Given the description of an element on the screen output the (x, y) to click on. 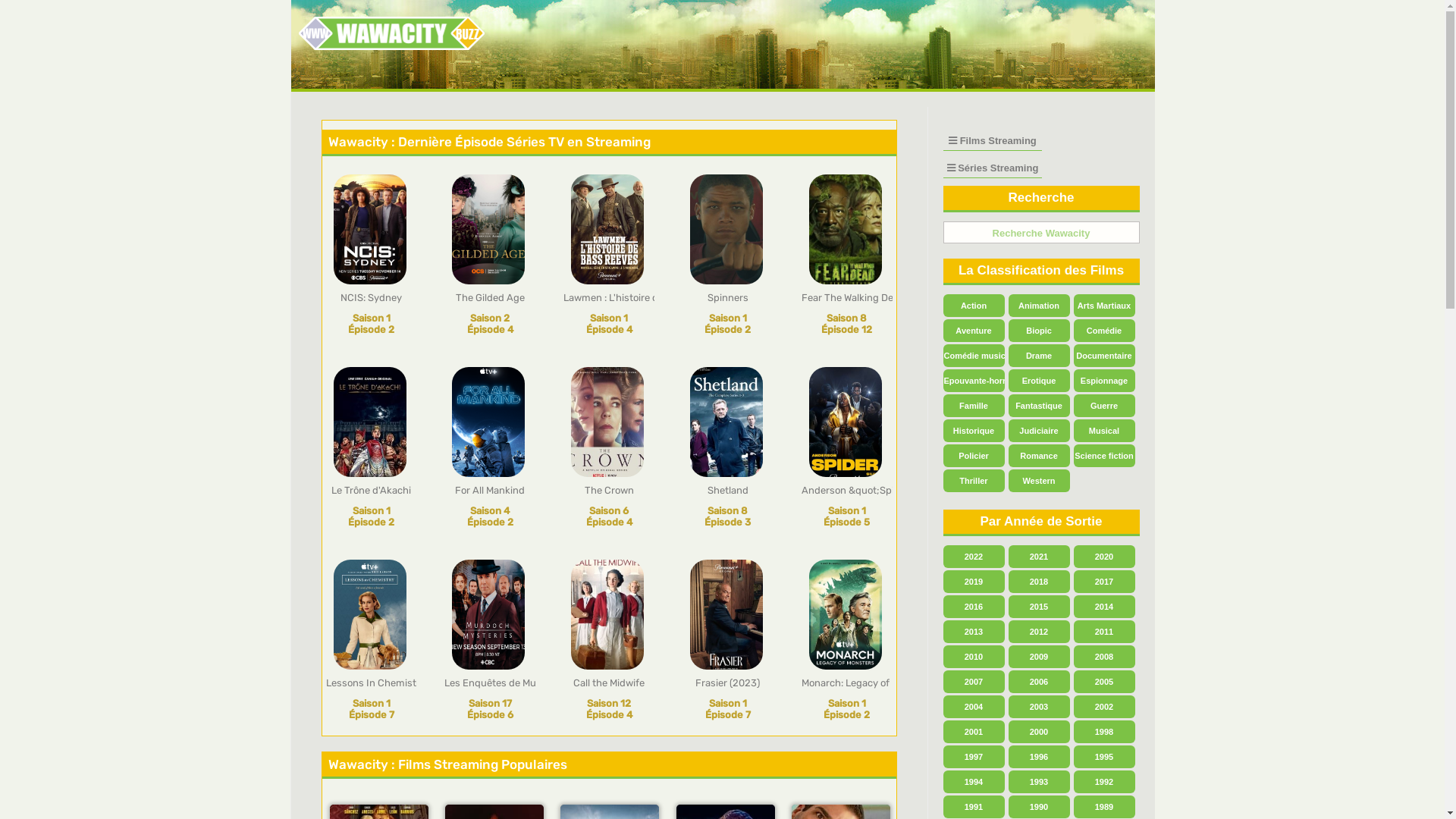
2014 Element type: text (1104, 606)
Historique Element type: text (973, 430)
Thriller Element type: text (973, 480)
1993 Element type: text (1039, 781)
2013 Element type: text (973, 631)
Espionnage Element type: text (1104, 380)
2011 Element type: text (1104, 631)
1998 Element type: text (1104, 731)
2016 Element type: text (973, 606)
1989 Element type: text (1104, 806)
1990 Element type: text (1039, 806)
2004 Element type: text (973, 706)
Documentaire Element type: text (1104, 355)
Famille Element type: text (973, 405)
2009 Element type: text (1039, 656)
1997 Element type: text (973, 756)
Science fiction Element type: text (1104, 455)
Romance Element type: text (1039, 455)
2002 Element type: text (1104, 706)
2022 Element type: text (973, 556)
Western Element type: text (1039, 480)
1992 Element type: text (1104, 781)
2018 Element type: text (1039, 581)
2010 Element type: text (973, 656)
2019 Element type: text (973, 581)
2003 Element type: text (1039, 706)
2008 Element type: text (1104, 656)
Policier Element type: text (973, 455)
Animation Element type: text (1039, 305)
2012 Element type: text (1039, 631)
1996 Element type: text (1039, 756)
2000 Element type: text (1039, 731)
1994 Element type: text (973, 781)
Arts Martiaux Element type: text (1104, 305)
Musical Element type: text (1104, 430)
2006 Element type: text (1039, 681)
1995 Element type: text (1104, 756)
Epouvante-horreur Element type: text (973, 380)
2017 Element type: text (1104, 581)
Biopic Element type: text (1039, 330)
Aventure Element type: text (973, 330)
Erotique Element type: text (1039, 380)
Judiciaire Element type: text (1039, 430)
Guerre Element type: text (1104, 405)
2020 Element type: text (1104, 556)
2005 Element type: text (1104, 681)
Fantastique Element type: text (1039, 405)
2015 Element type: text (1039, 606)
2021 Element type: text (1039, 556)
Drame Element type: text (1039, 355)
Films Streaming Element type: text (992, 140)
2001 Element type: text (973, 731)
2007 Element type: text (973, 681)
Action Element type: text (973, 305)
1991 Element type: text (973, 806)
